Given the description of an element on the screen output the (x, y) to click on. 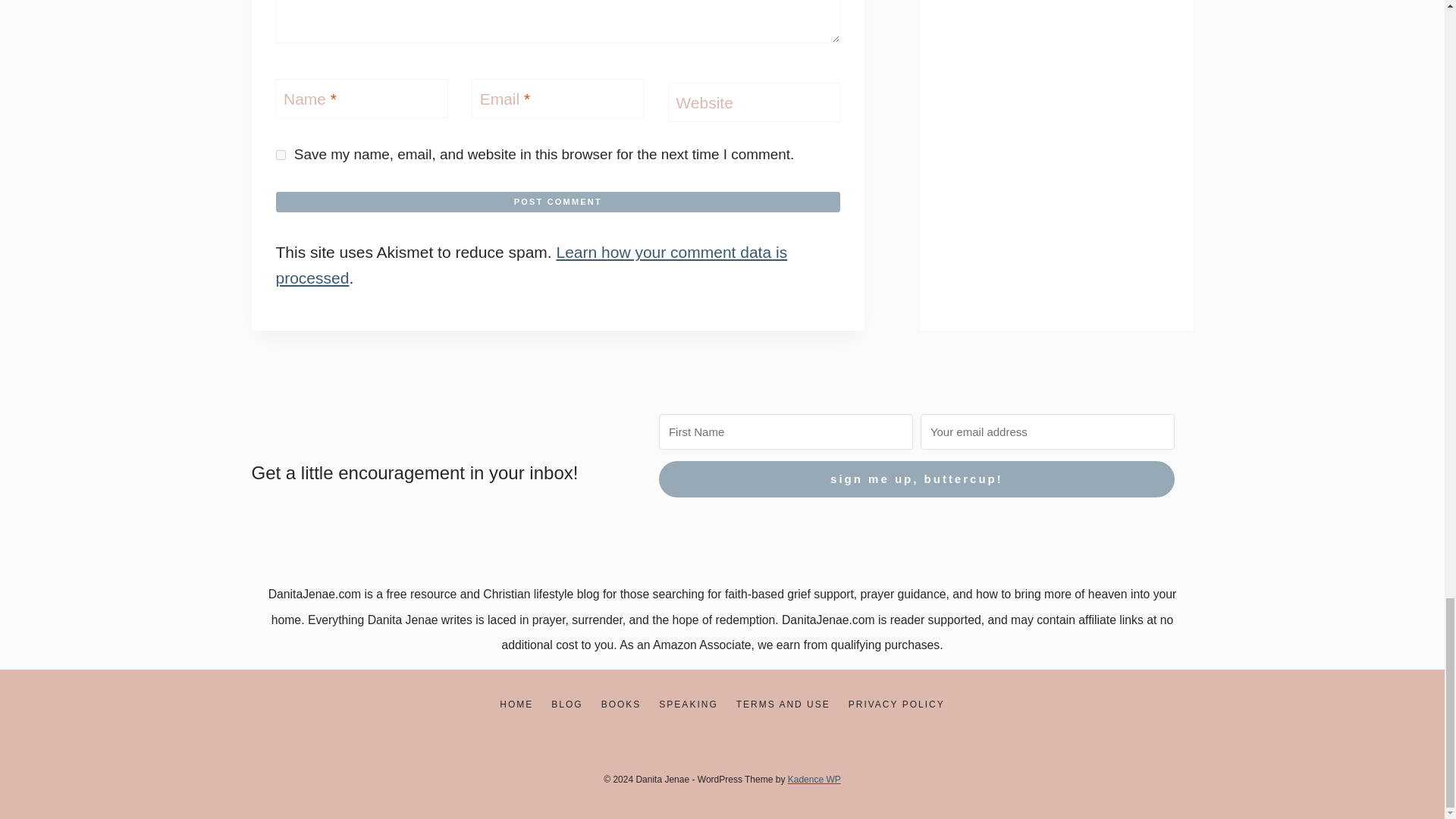
Post Comment (558, 201)
yes (280, 154)
Post Comment (558, 201)
